Given the description of an element on the screen output the (x, y) to click on. 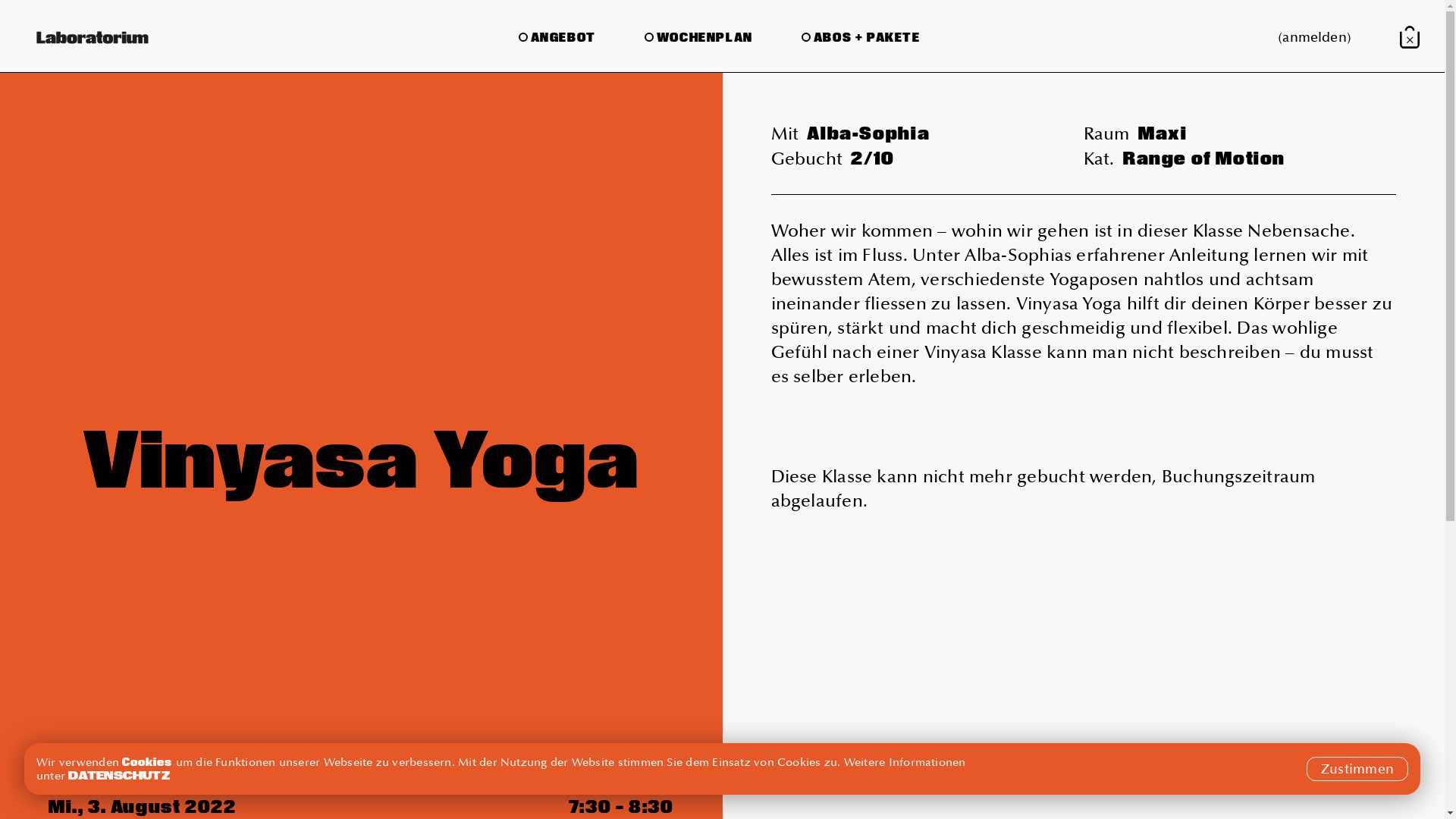
(anmelden) Element type: text (1314, 37)
ANGEBOT Element type: text (557, 36)
ABOS + PAKETE Element type: text (860, 36)
DATENSCHUTZ Element type: text (118, 775)
Zustimmen Element type: text (1357, 768)
WOCHENPLAN Element type: text (698, 36)
